Given the description of an element on the screen output the (x, y) to click on. 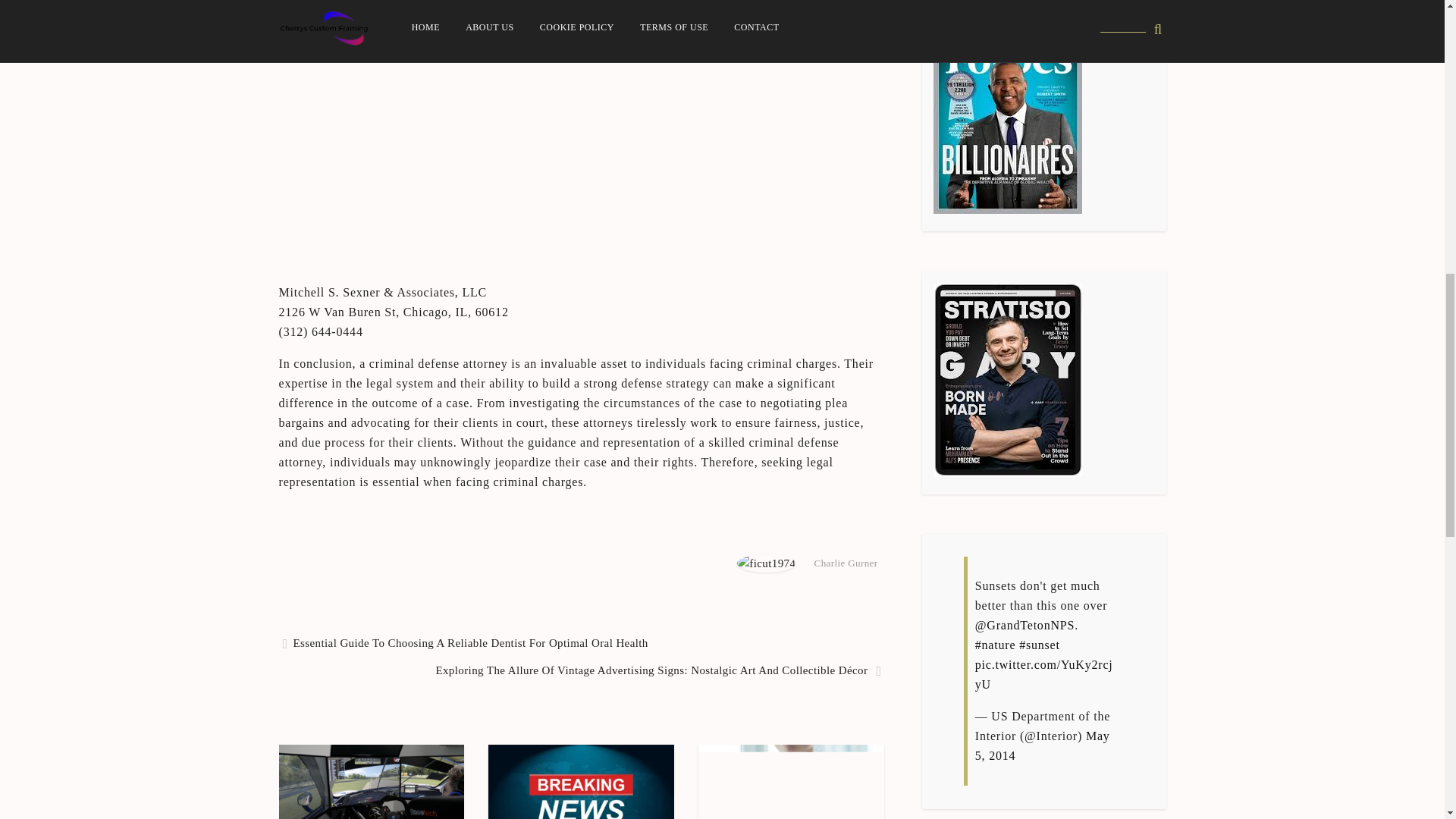
Charlie Gurner (845, 562)
Posts by Charlie Gurner (845, 562)
May 5, 2014 (1042, 745)
